Given the description of an element on the screen output the (x, y) to click on. 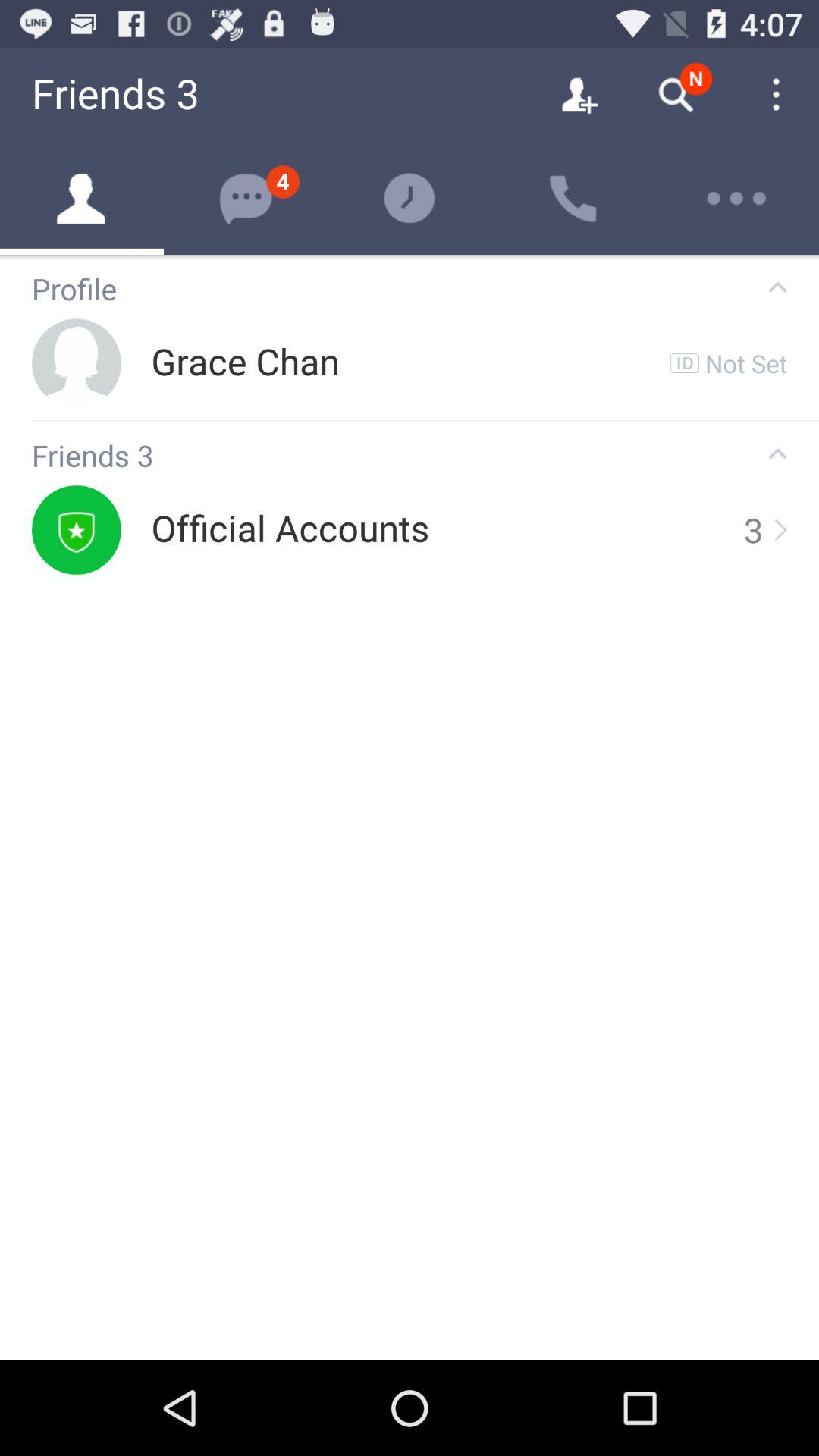
swipe to official accounts item (290, 529)
